Given the description of an element on the screen output the (x, y) to click on. 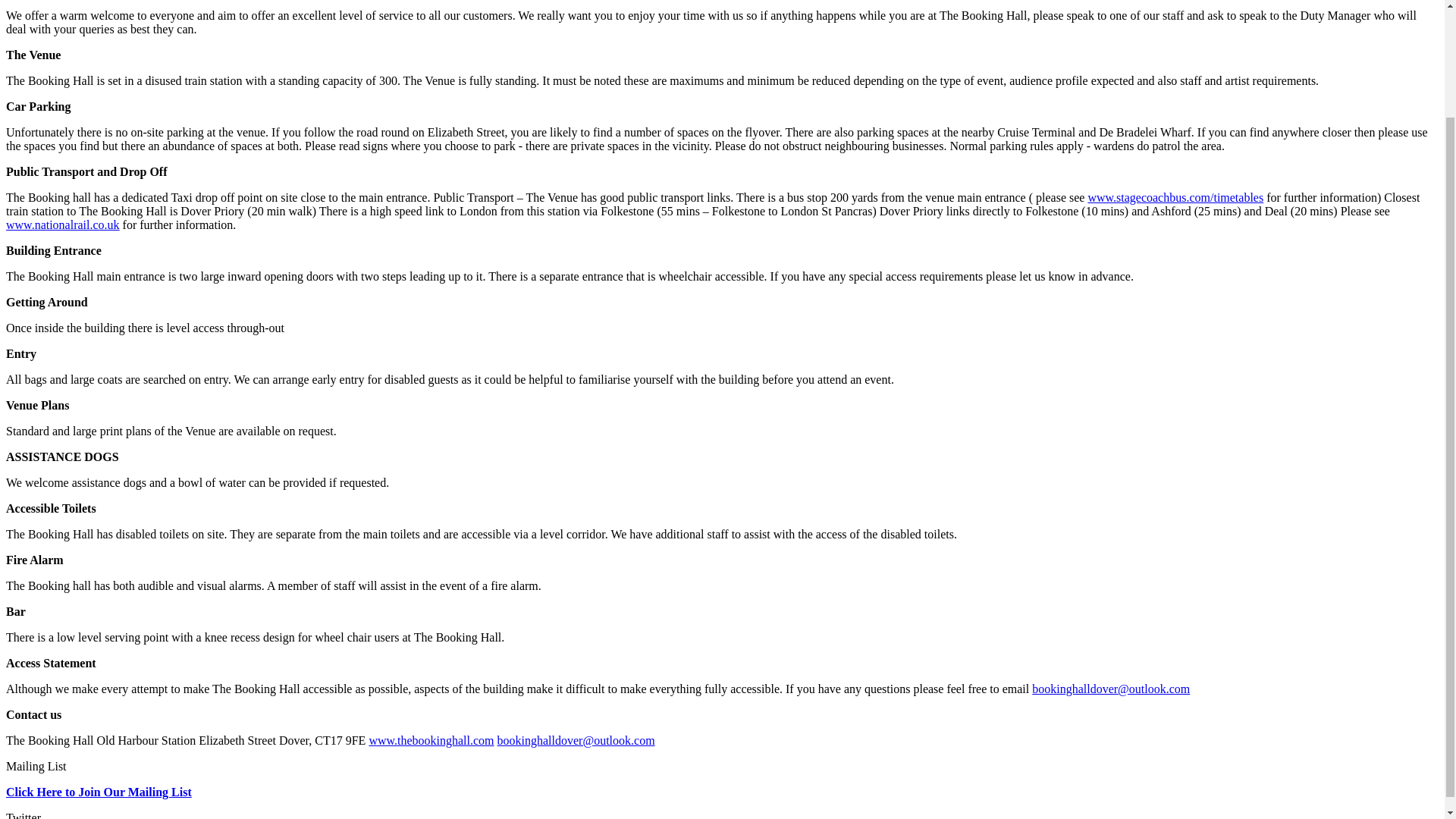
www.thebookinghall.com (430, 739)
Click Here to Join Our Mailing List (98, 791)
www.nationalrail.co.uk (62, 224)
